Given the description of an element on the screen output the (x, y) to click on. 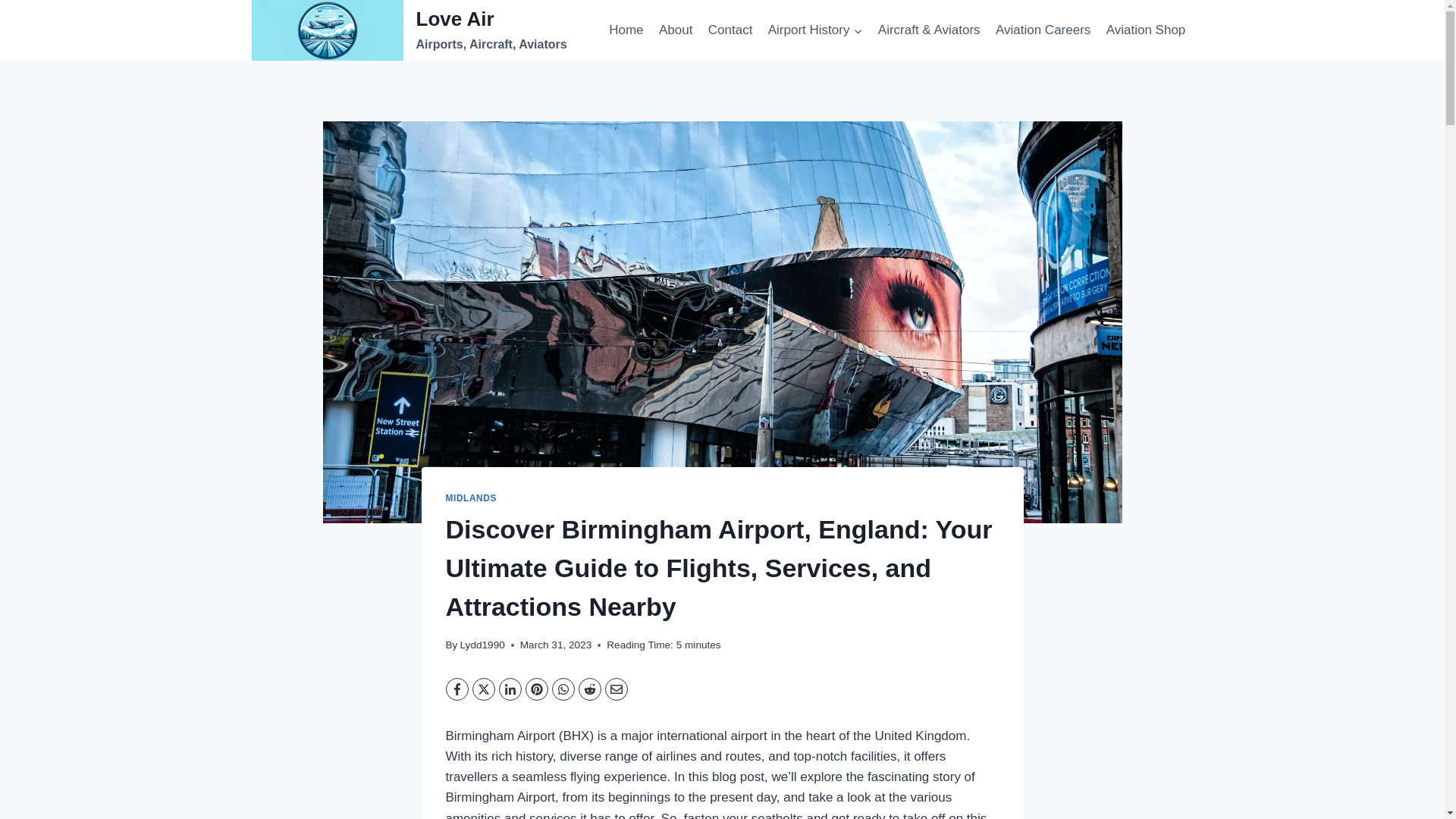
Airport History (815, 30)
Lydd1990 (482, 644)
Aviation Careers (1043, 30)
Aviation Shop (1146, 30)
Contact (730, 30)
About (409, 30)
Home (675, 30)
MIDLANDS (625, 30)
